Given the description of an element on the screen output the (x, y) to click on. 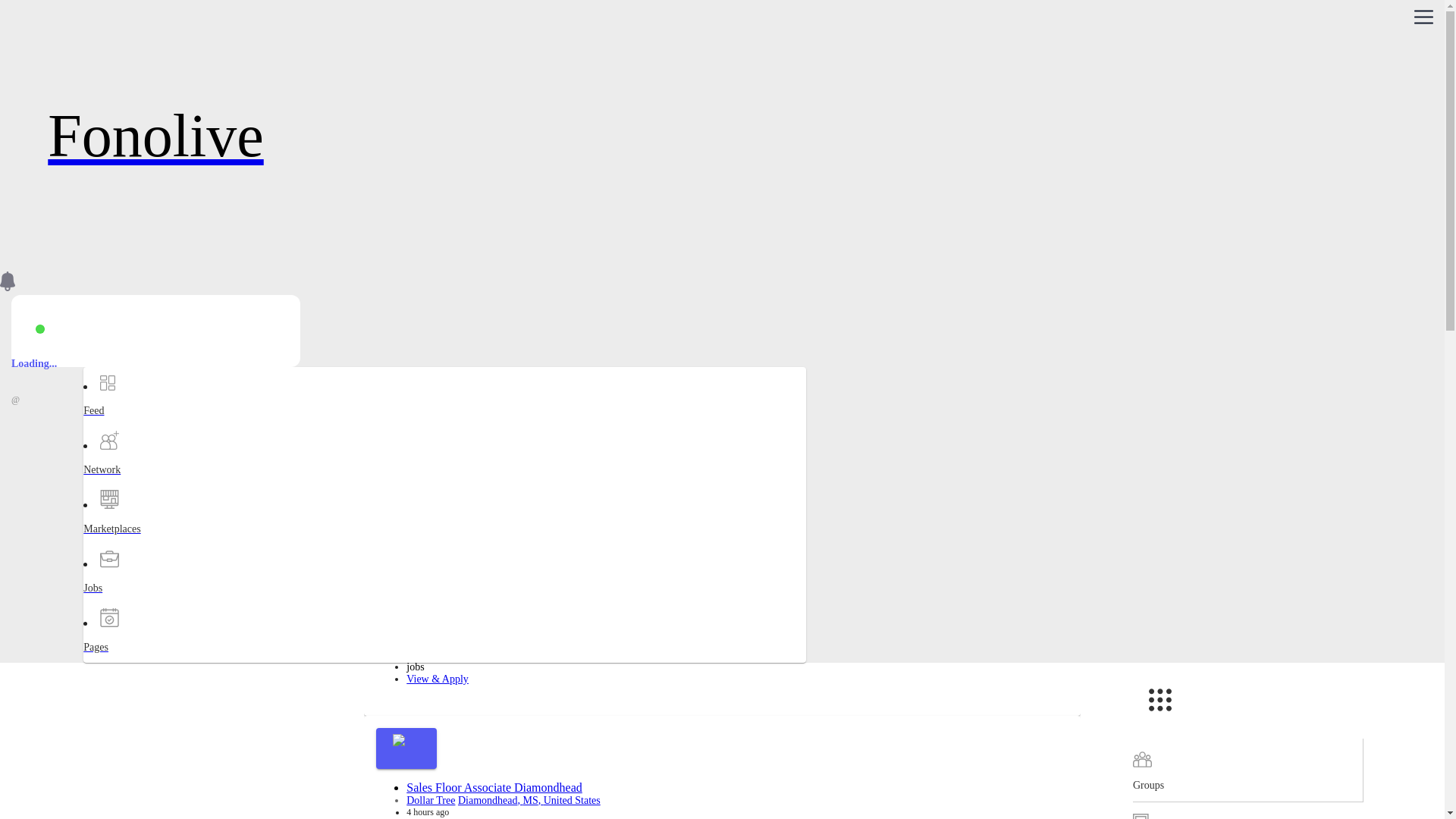
Diamondhead, MS, United States (539, 292)
My Paid Ads (1247, 810)
Sales Associate Diamondhead (479, 449)
Diamondhead, MS, United States (528, 799)
Marketplaces (142, 542)
Diamondhead, MS, United States (516, 631)
Groups (1247, 770)
Network (142, 483)
Jobs (142, 601)
Feed (142, 424)
